Given the description of an element on the screen output the (x, y) to click on. 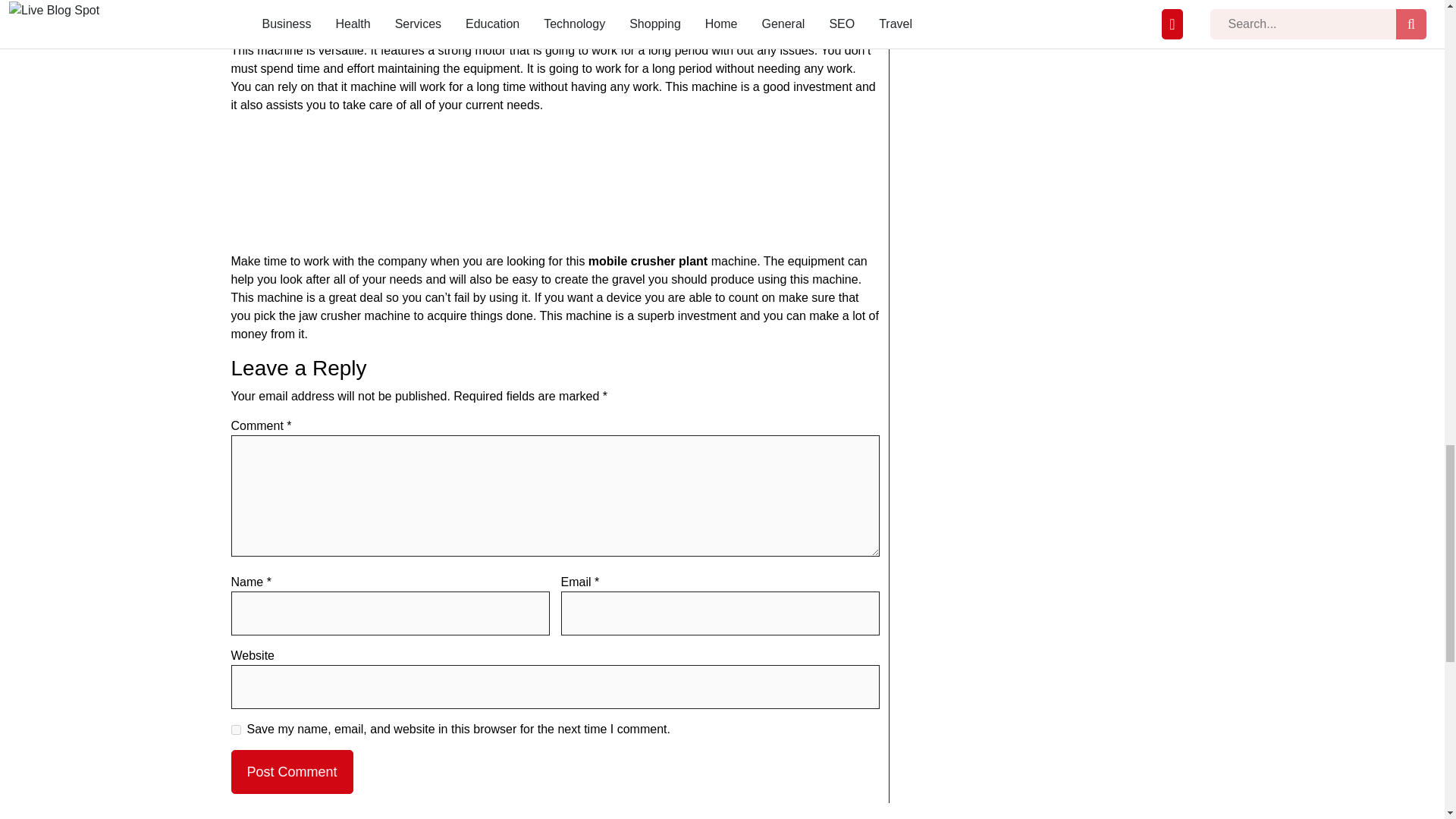
yes (235, 729)
Post Comment (291, 771)
Post Comment (291, 771)
